Given the description of an element on the screen output the (x, y) to click on. 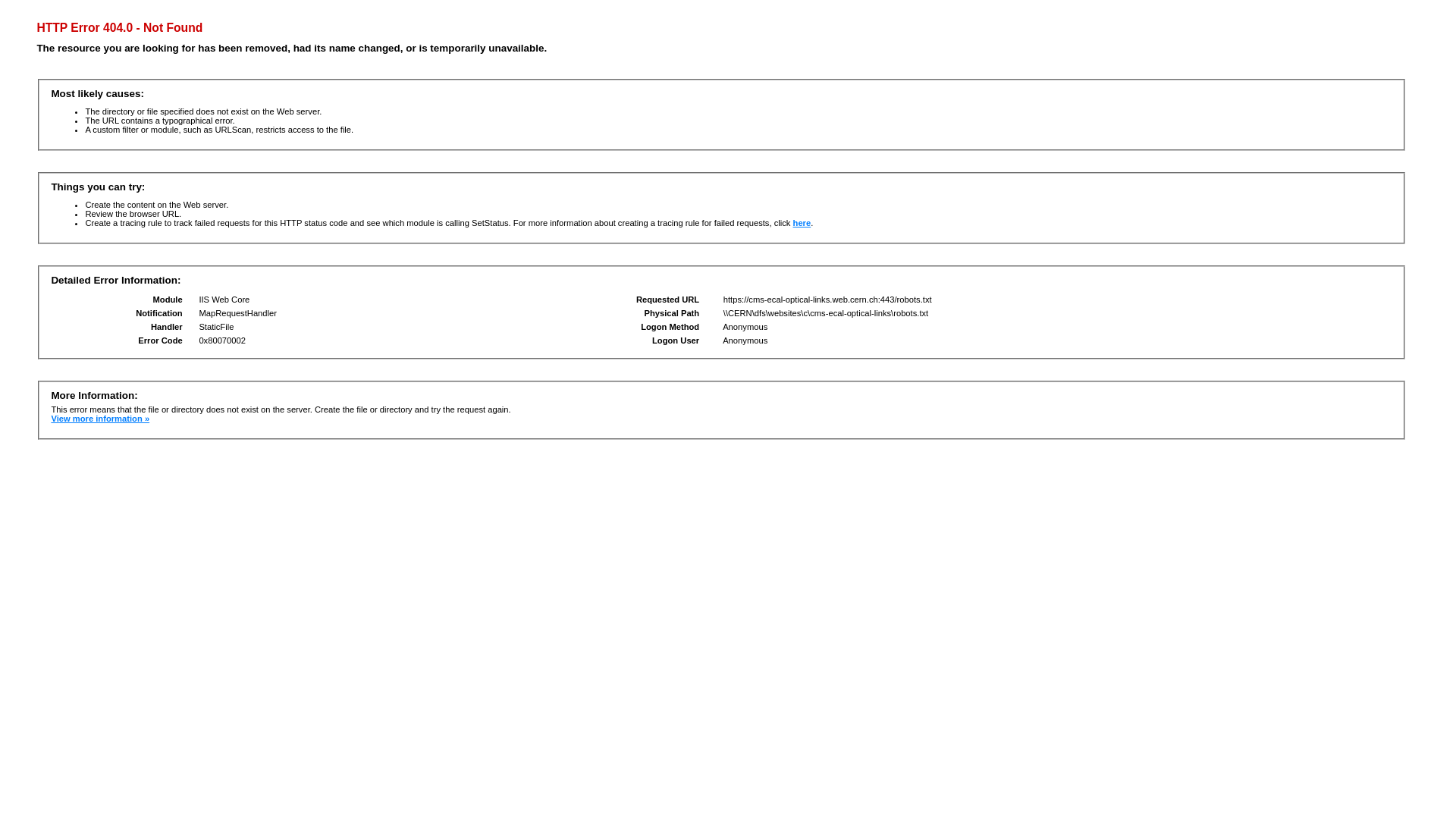
here Element type: text (802, 222)
